Given the description of an element on the screen output the (x, y) to click on. 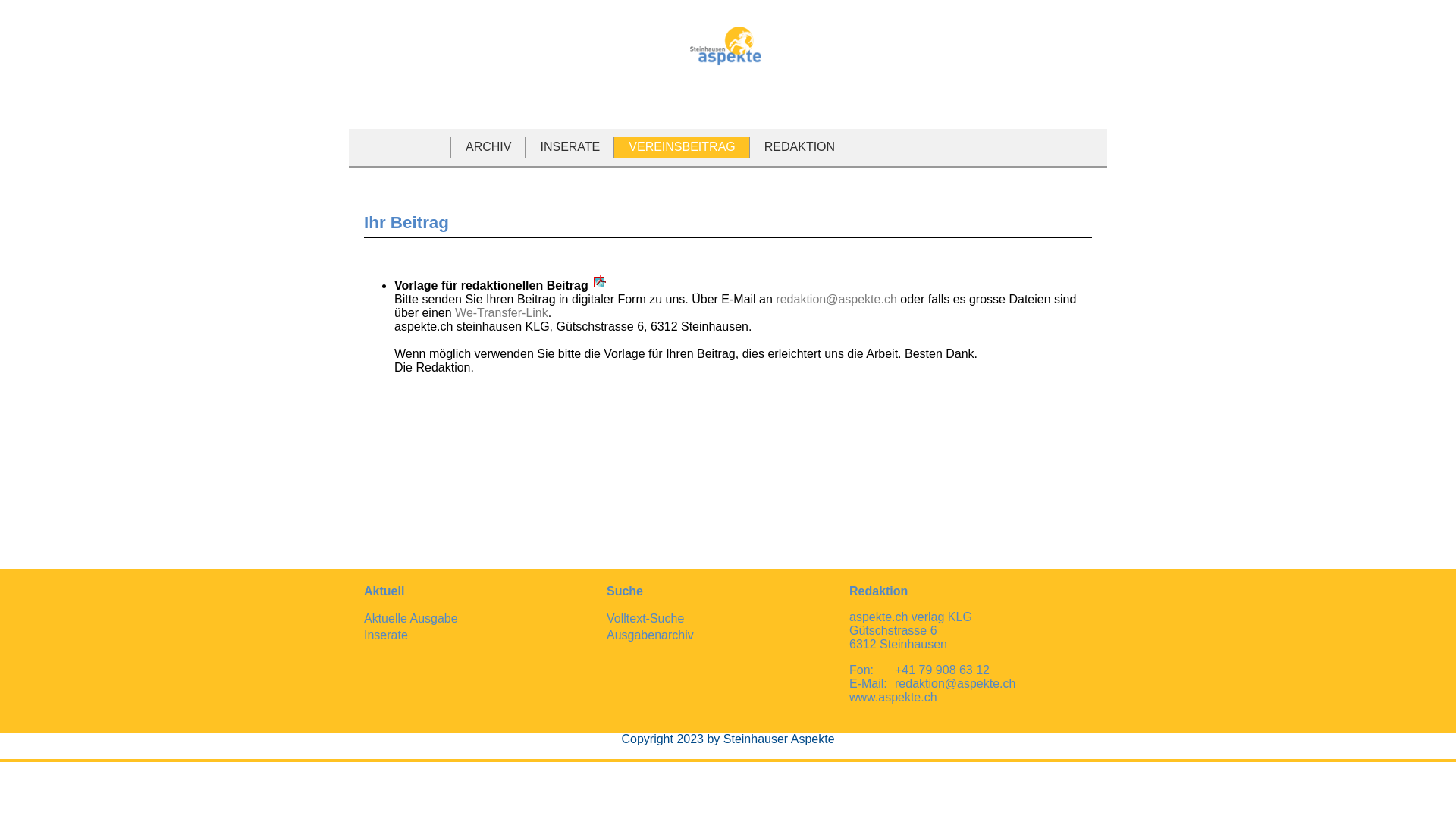
Aktuelle Ausgabe Element type: text (411, 617)
We-Transfer-Link Element type: text (501, 312)
www.aspekte.ch Element type: text (893, 696)
redaktion@aspekte.ch Element type: text (835, 298)
VEREINSBEITRAG Element type: text (683, 146)
Ausgabenarchiv Element type: text (649, 634)
101331.pdf Element type: hover (599, 281)
Steinhauser Aspekte Element type: hover (727, 45)
INSERATE Element type: text (571, 146)
ARCHIV Element type: text (489, 146)
+41 79 908 63 12 Element type: text (941, 669)
REDAKTION Element type: text (800, 146)
Volltext-Suche Element type: text (645, 617)
Inserate Element type: text (385, 634)
redaktion@aspekte.ch Element type: text (954, 683)
